Given the description of an element on the screen output the (x, y) to click on. 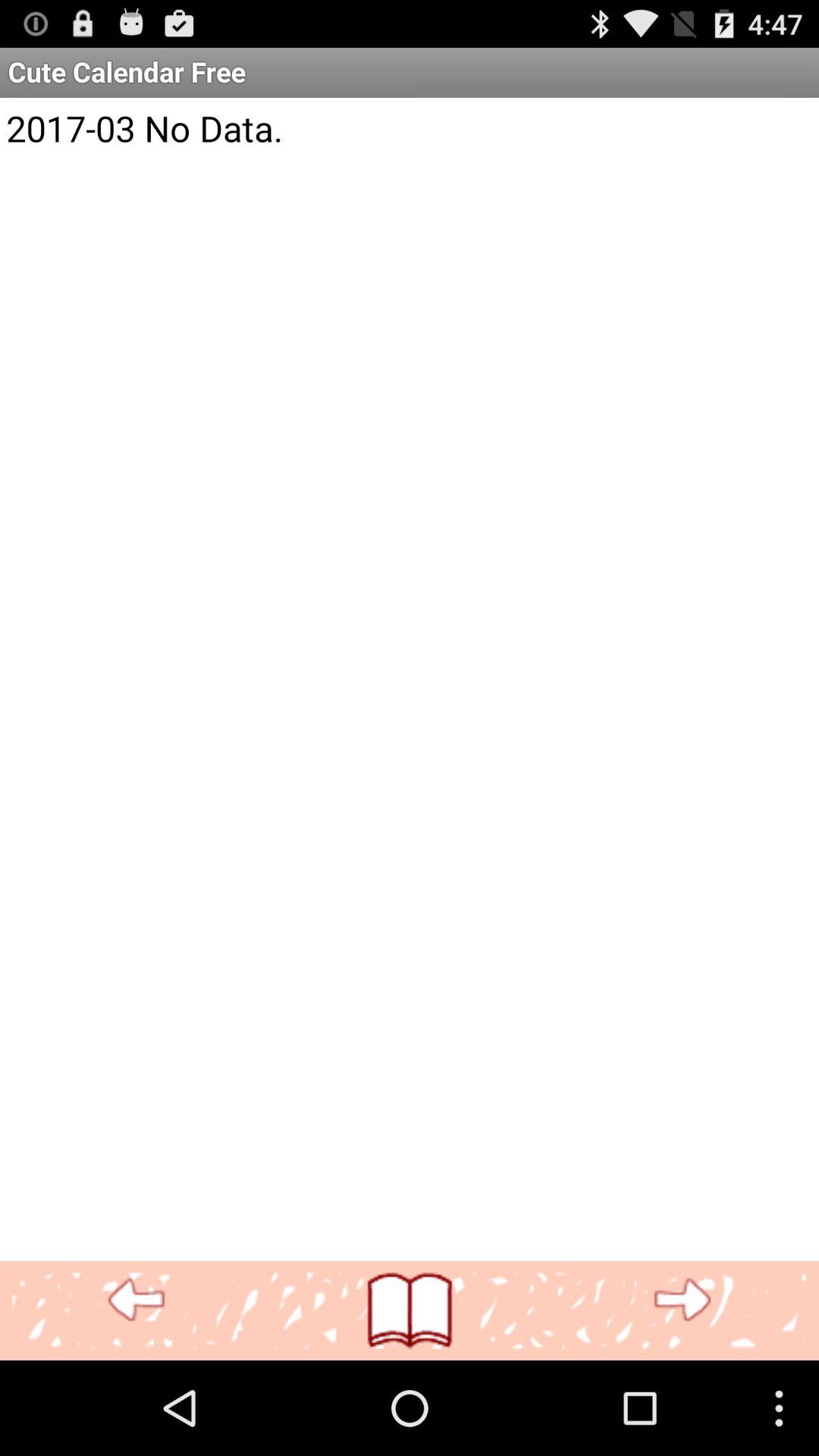
next page (682, 1300)
